Given the description of an element on the screen output the (x, y) to click on. 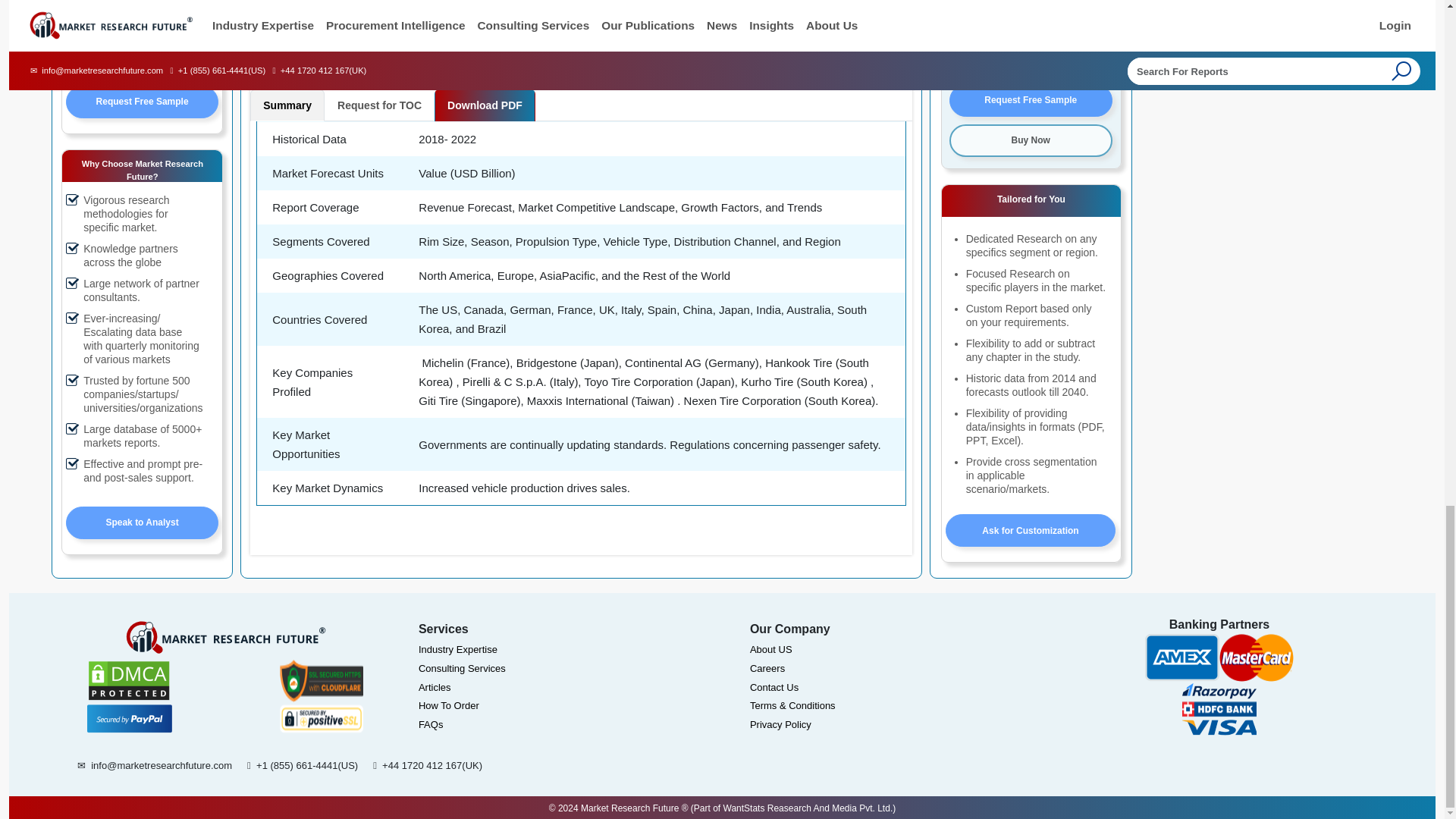
How PayPal Works (129, 718)
DMCA.com Protection Status (128, 680)
